Given the description of an element on the screen output the (x, y) to click on. 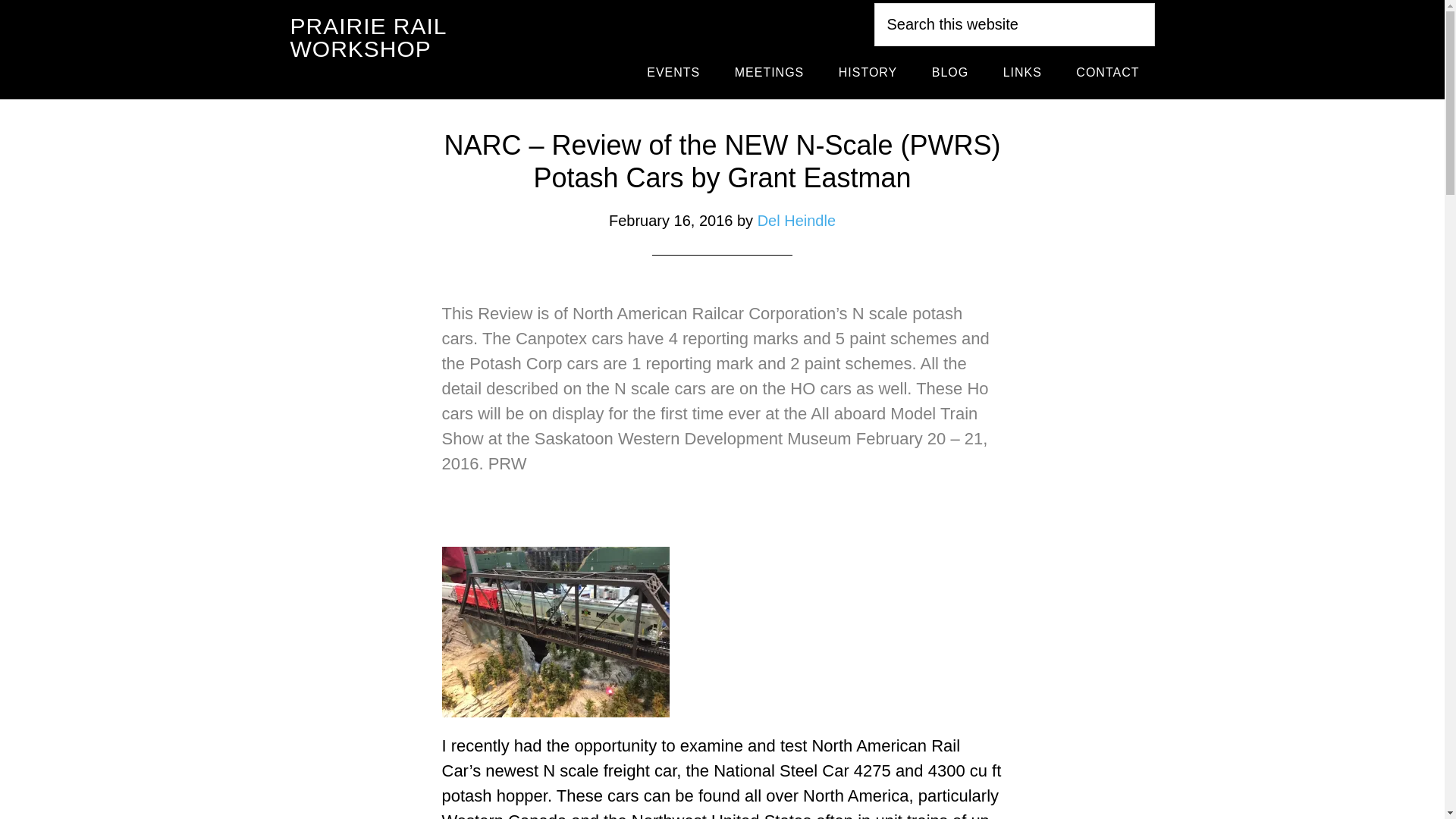
BLOG (950, 72)
LINKS (1022, 72)
MEETINGS (769, 72)
Del Heindle (796, 220)
EVENTS (672, 72)
PRAIRIE RAIL WORKSHOP (367, 37)
HISTORY (868, 72)
CONTACT (1107, 72)
